Given the description of an element on the screen output the (x, y) to click on. 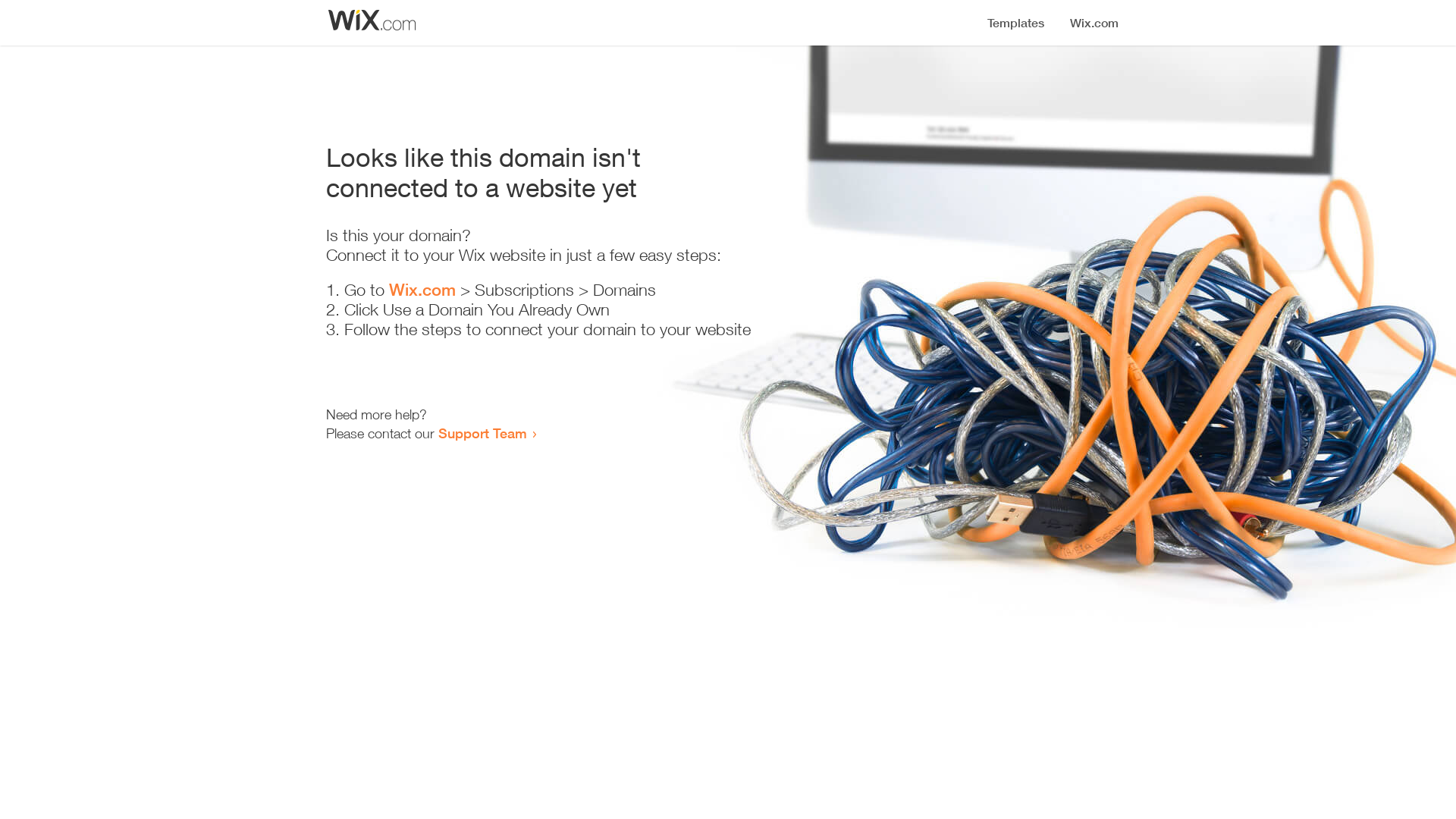
Support Team Element type: text (482, 432)
Wix.com Element type: text (422, 289)
